Given the description of an element on the screen output the (x, y) to click on. 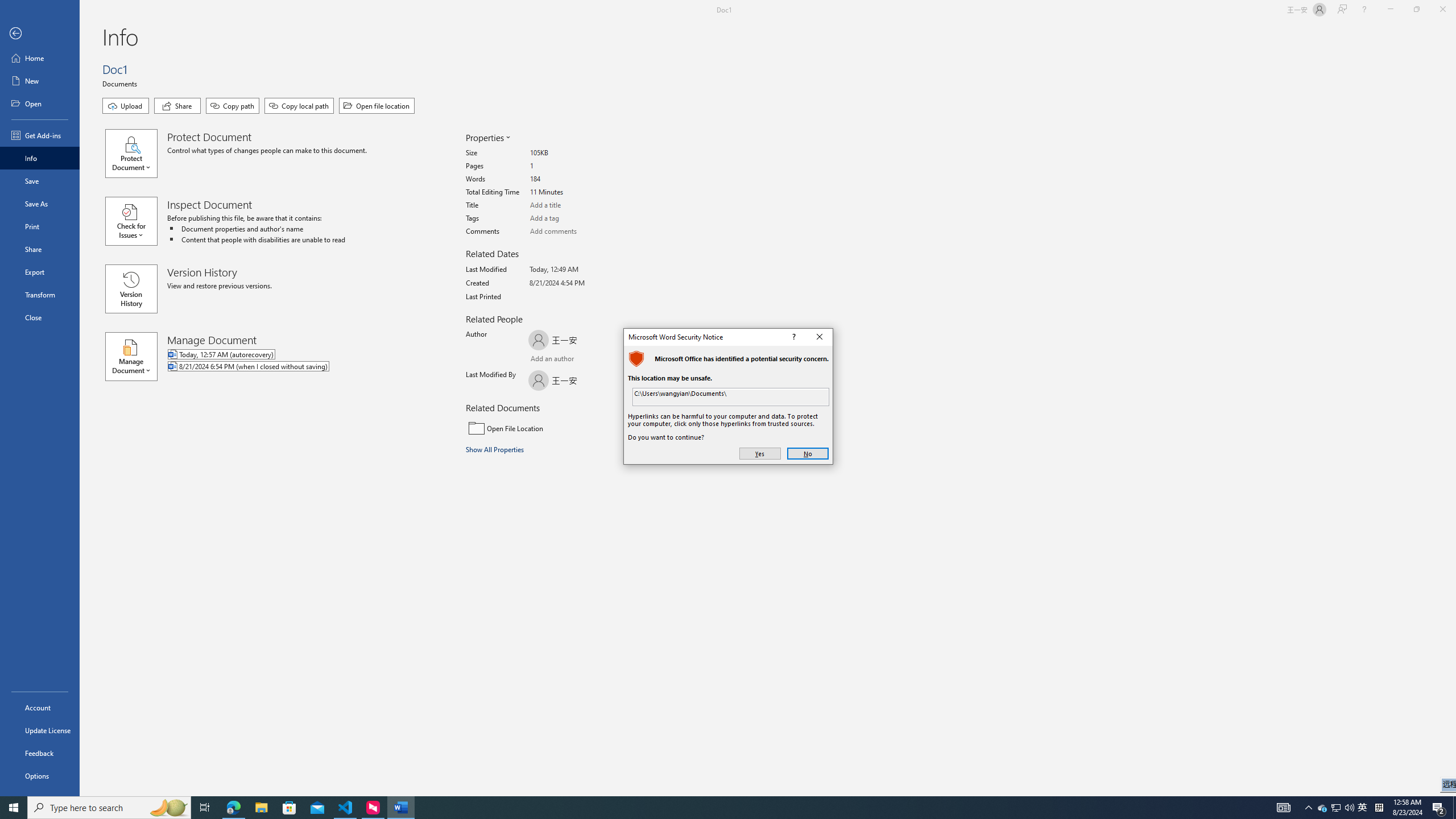
Upload (124, 105)
Check for Issues (135, 220)
Protect Document (135, 153)
Back (40, 33)
 8/21/2024 6:54 PM (when I closed without saving) (295, 367)
Transform (40, 294)
File Explorer (261, 807)
